Given the description of an element on the screen output the (x, y) to click on. 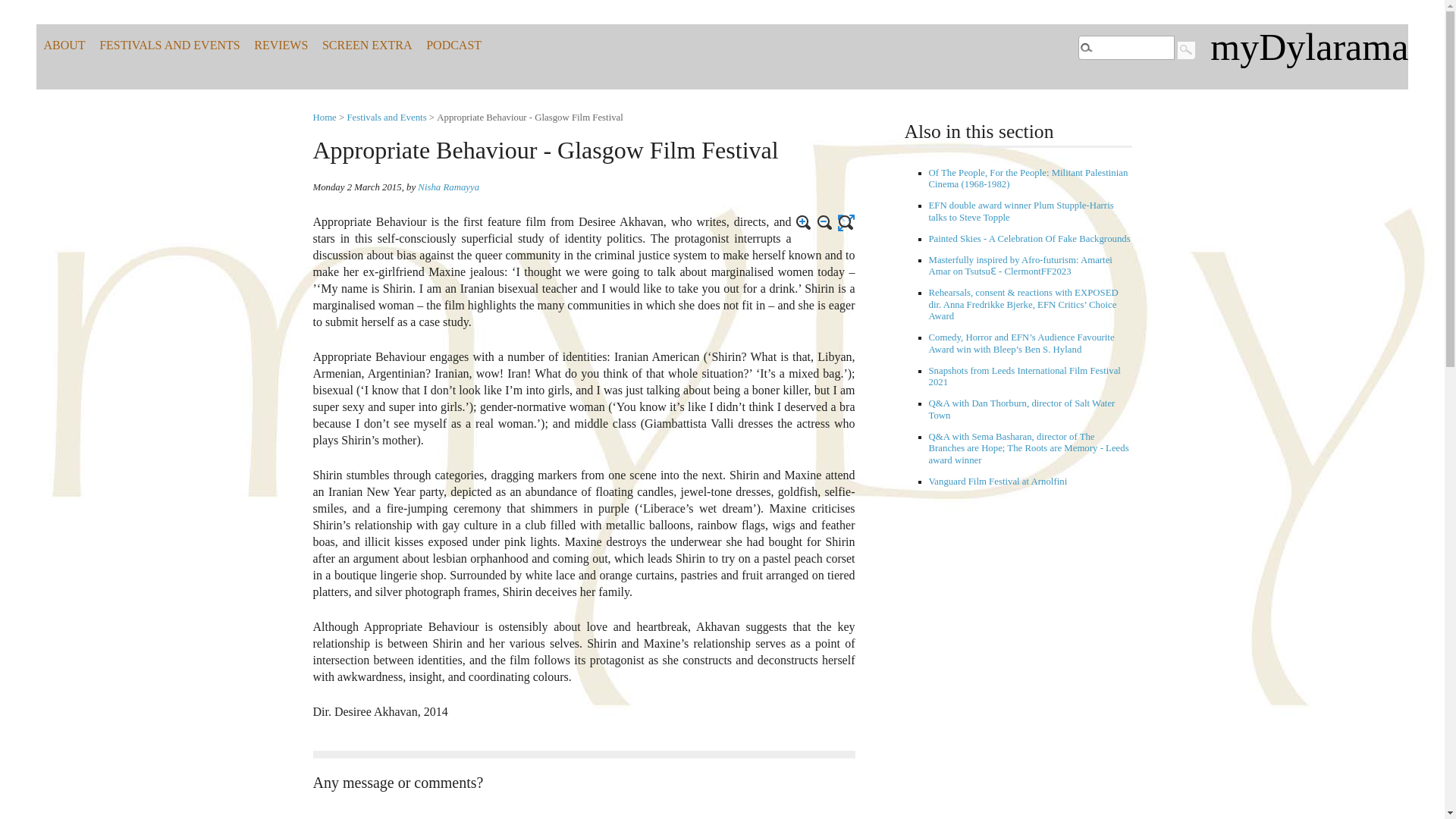
SCREEN EXTRA (366, 45)
Search (1186, 47)
Diminish font size (824, 222)
ABOUT (64, 45)
Vanguard Film Festival at Arnolfini (997, 480)
REVIEWS (280, 45)
2015-03-02T16:44:32Z (357, 186)
Painted Skies - A Celebration Of Fake Backgrounds (1028, 238)
Festivals and Events (386, 117)
Text only (846, 222)
Nisha Ramayya (448, 186)
myDylarama (1308, 46)
Enlarge the font (803, 222)
FESTIVALS AND EVENTS (169, 45)
Home (324, 117)
